Given the description of an element on the screen output the (x, y) to click on. 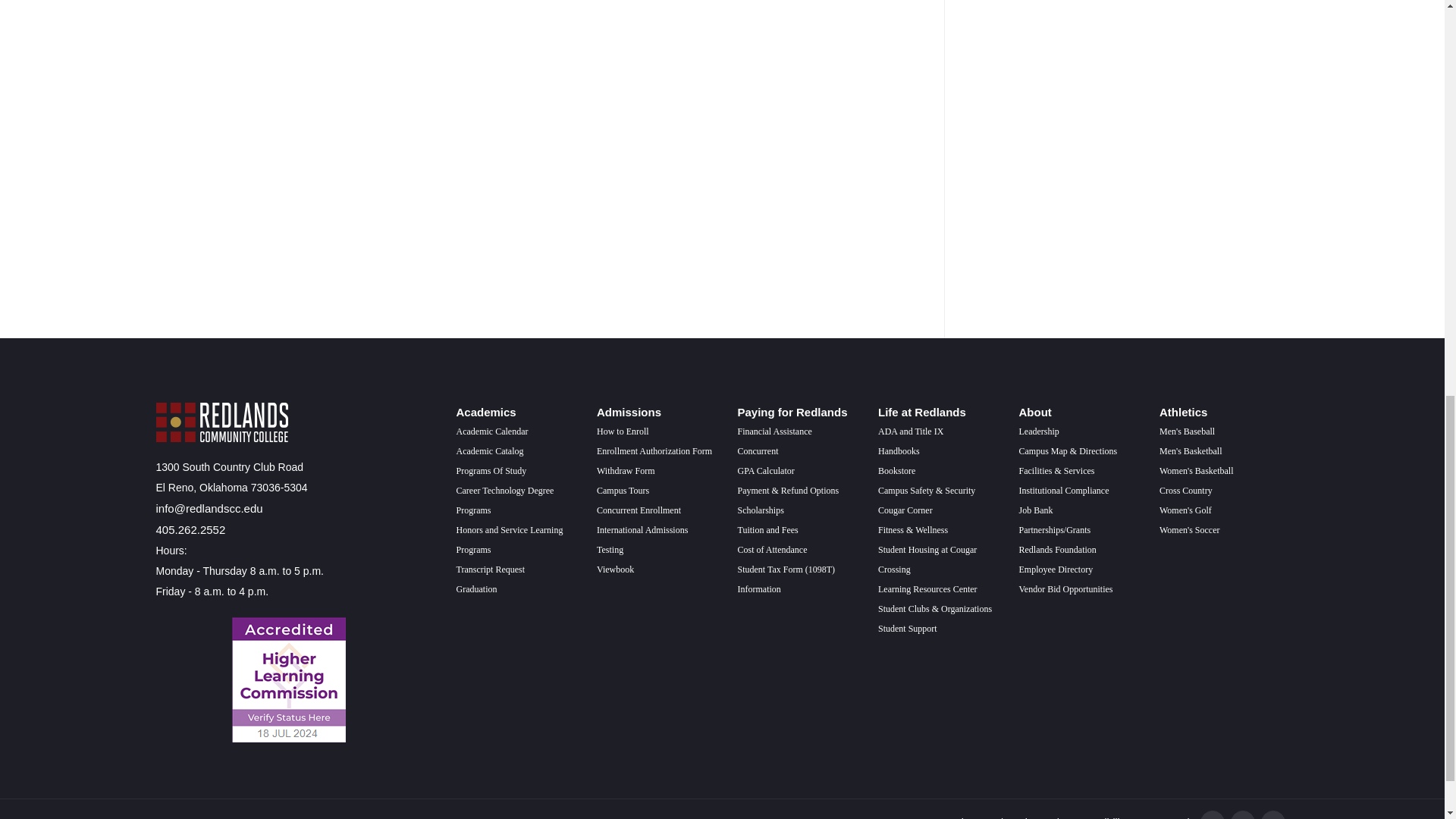
Listing of all Faculty and Staff (1056, 569)
